Given the description of an element on the screen output the (x, y) to click on. 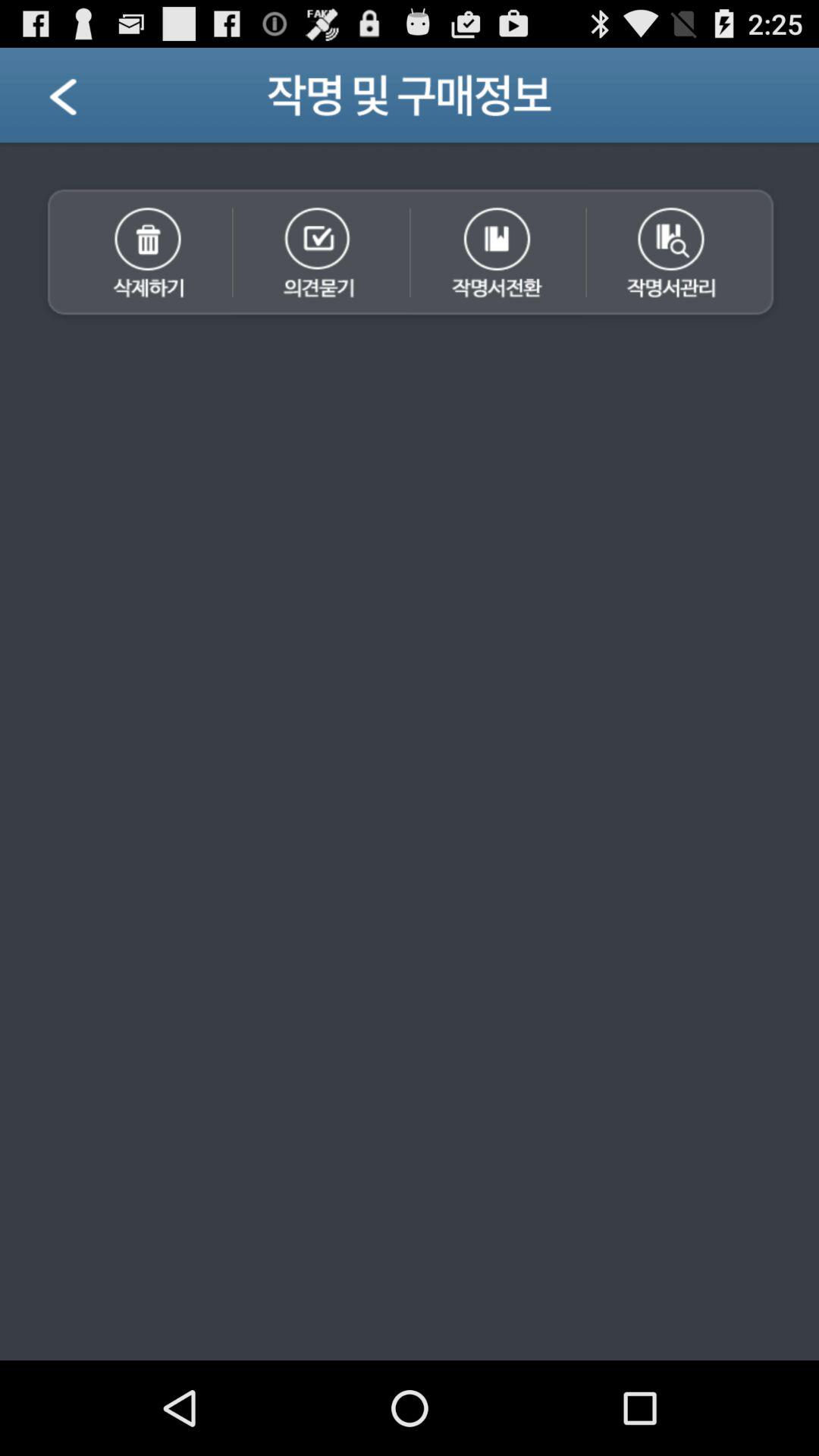
delete (134, 253)
